Given the description of an element on the screen output the (x, y) to click on. 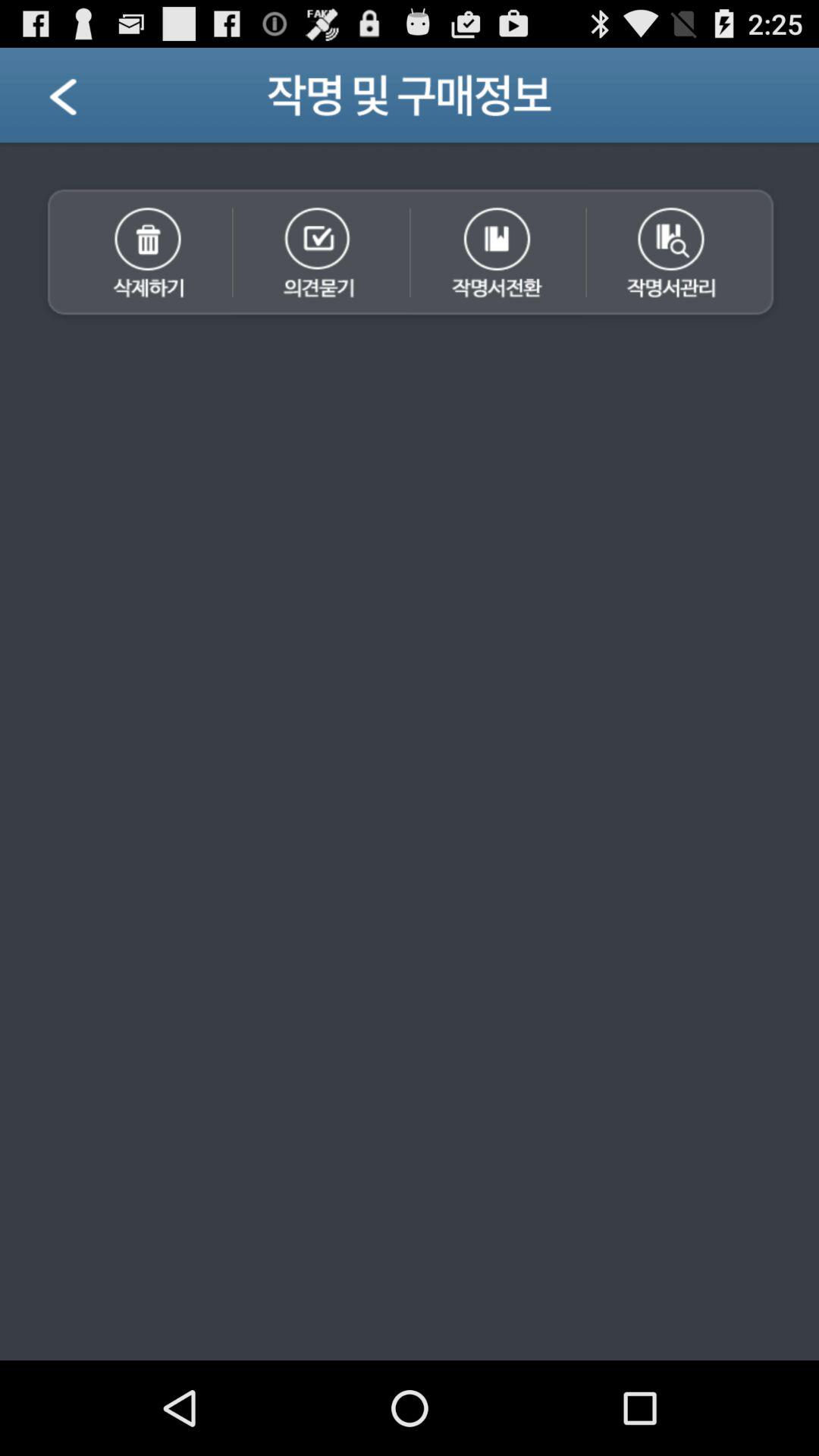
delete (134, 253)
